Given the description of an element on the screen output the (x, y) to click on. 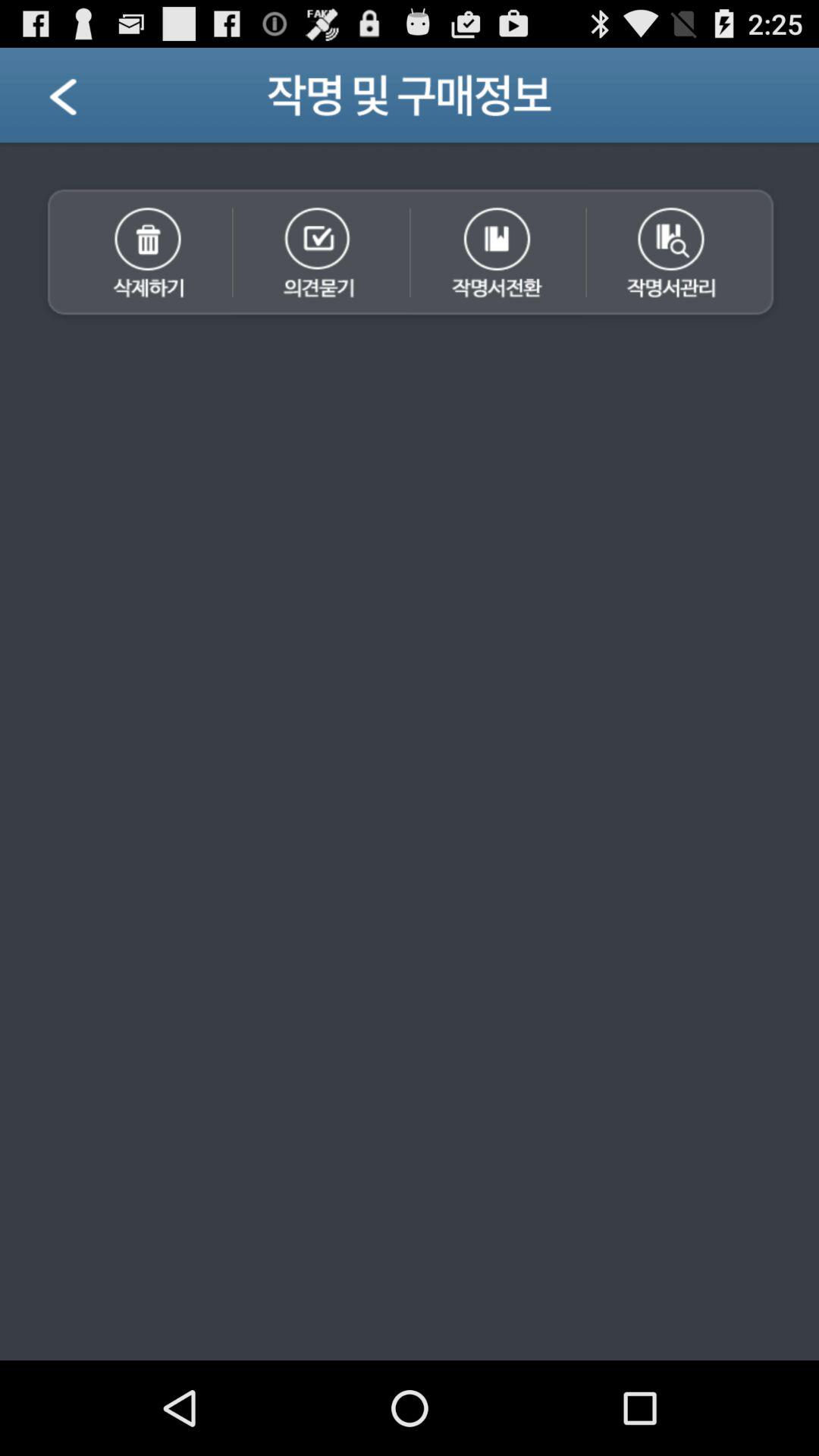
delete (134, 253)
